Given the description of an element on the screen output the (x, y) to click on. 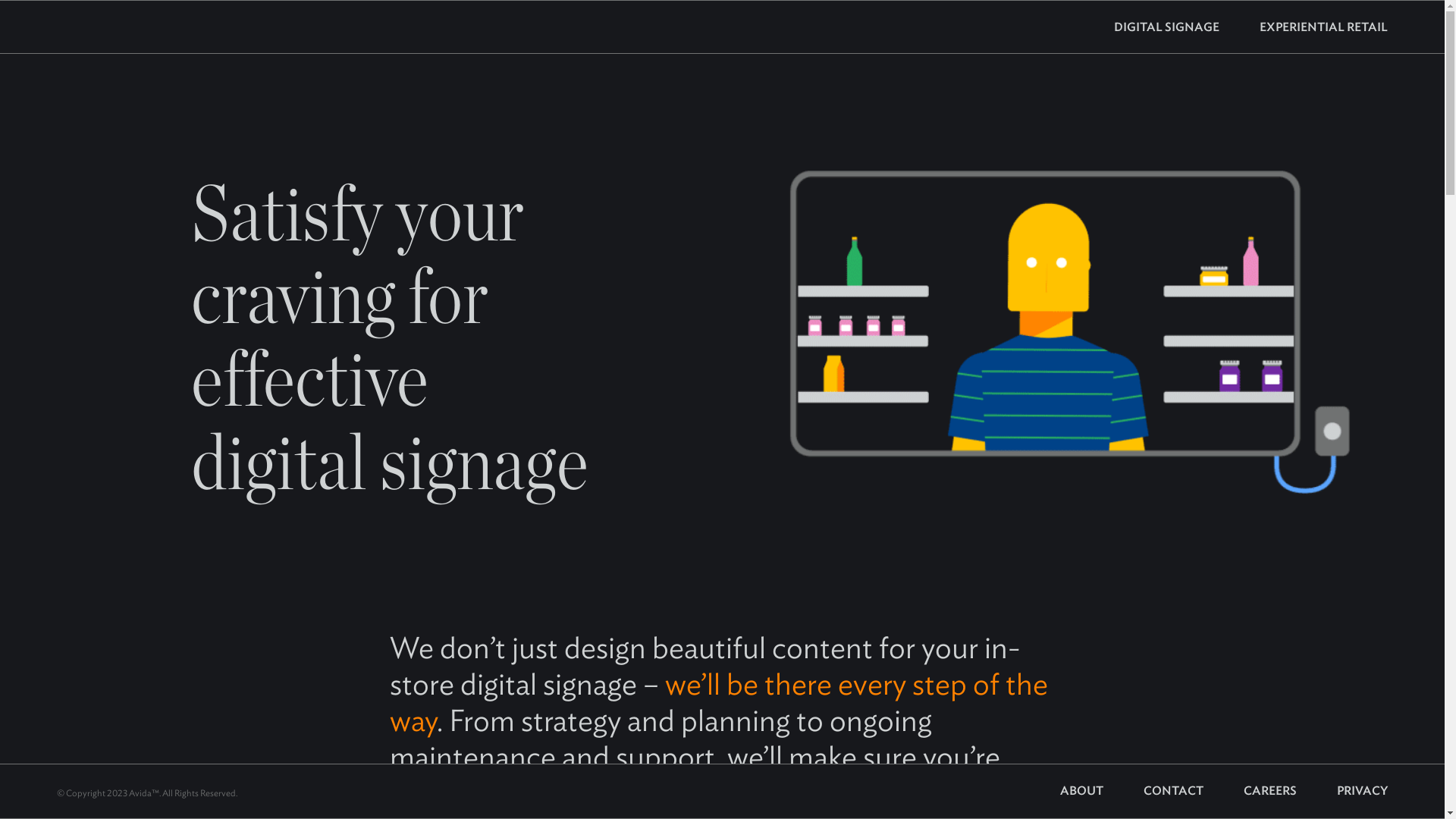
ABOUT Element type: text (1081, 790)
PRIVACY Element type: text (1343, 790)
CONTACT Element type: text (1154, 790)
DIGITAL SIGNAGE Element type: text (1166, 26)
EXPERIENTIAL RETAIL Element type: text (1304, 26)
CAREERS Element type: text (1250, 790)
